Given the description of an element on the screen output the (x, y) to click on. 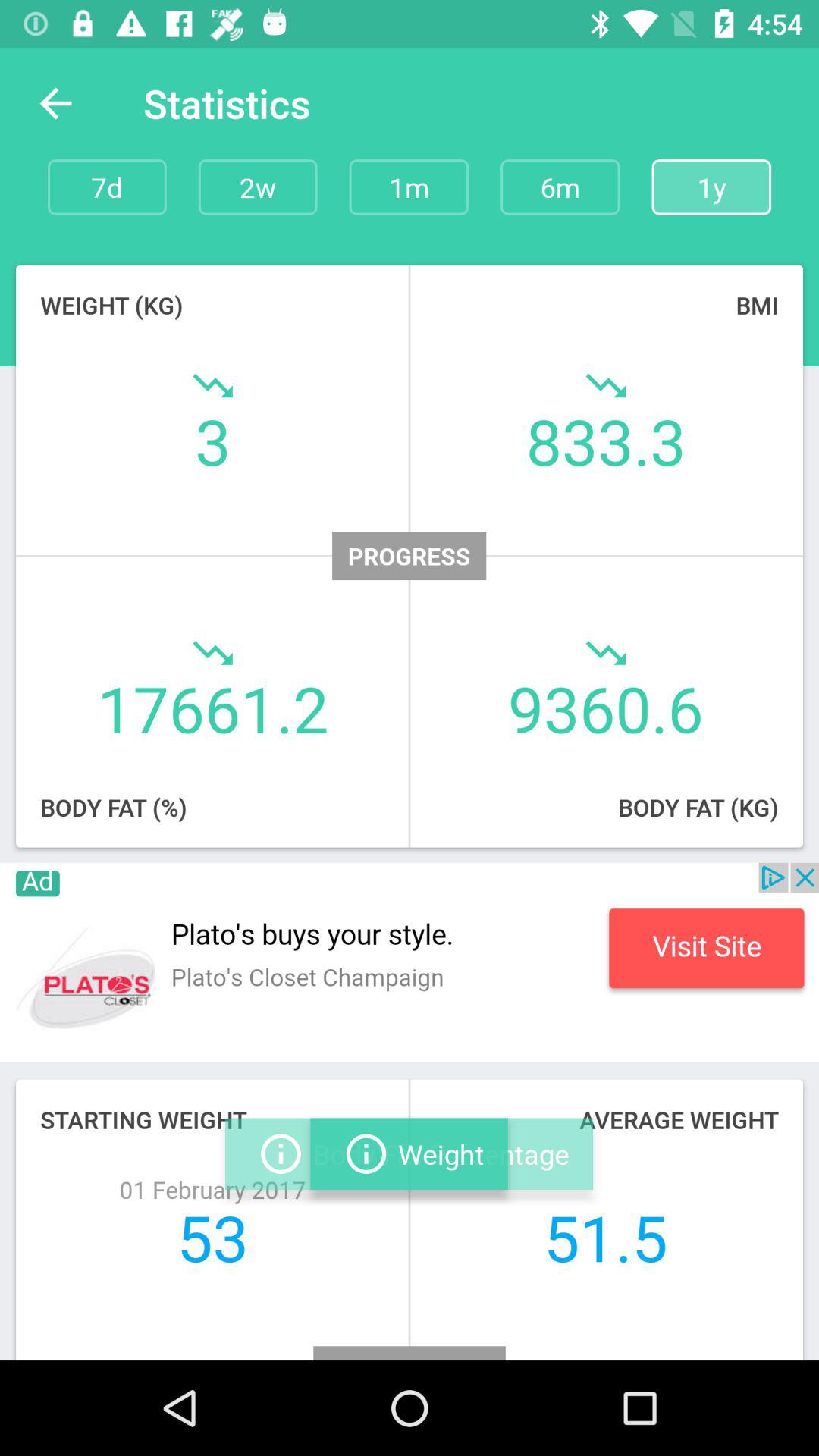
advertising area button (409, 961)
